Given the description of an element on the screen output the (x, y) to click on. 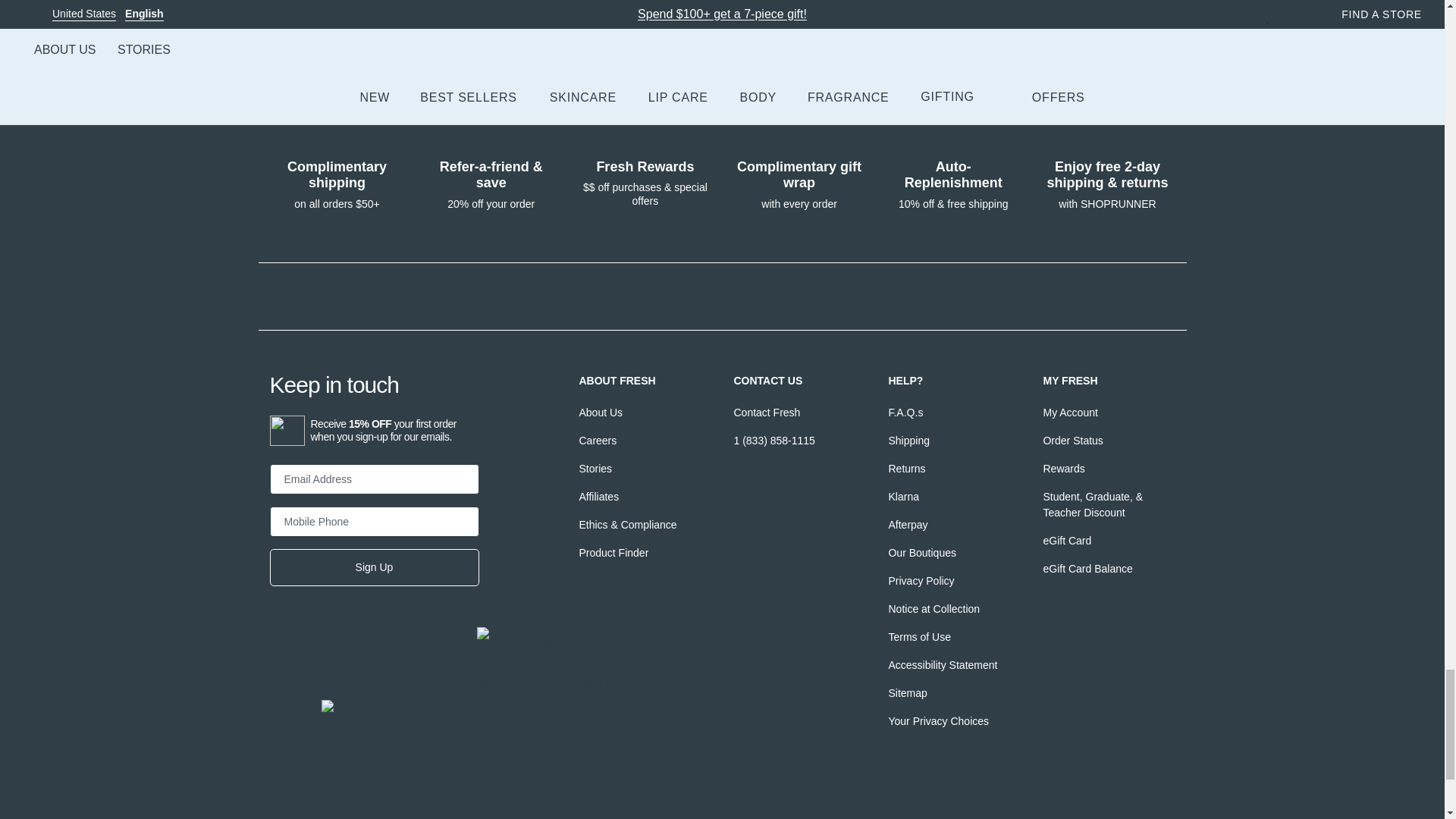
Facebook (281, 681)
Product Finder (612, 552)
TikTok (488, 639)
Spotify (333, 711)
Pinterest (437, 681)
Instagram (384, 681)
Twitter (333, 681)
